Given the description of an element on the screen output the (x, y) to click on. 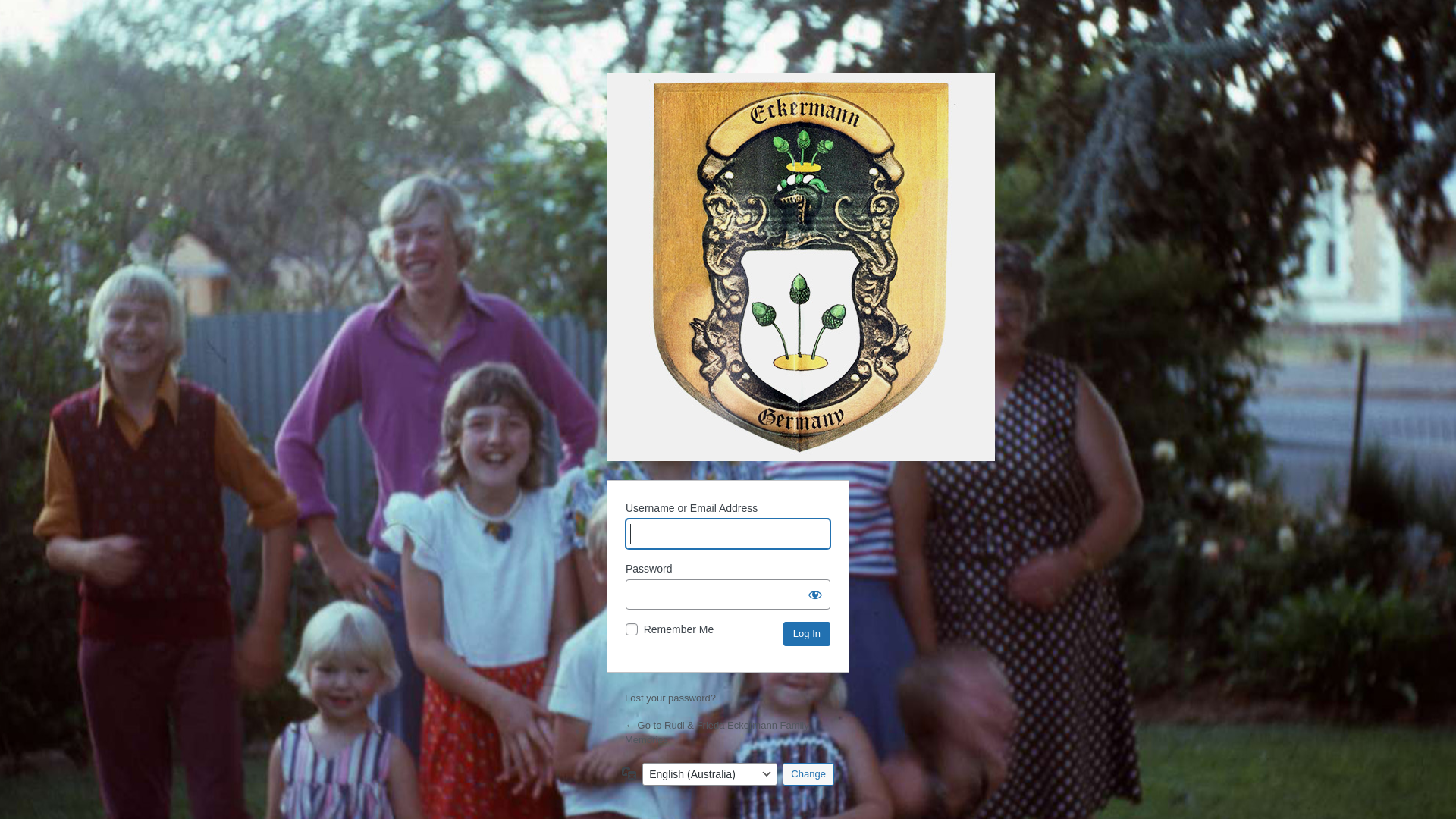
Powered by WordPress Element type: text (800, 266)
Log In Element type: text (806, 633)
Change Element type: text (808, 773)
Lost your password? Element type: text (669, 697)
